Given the description of an element on the screen output the (x, y) to click on. 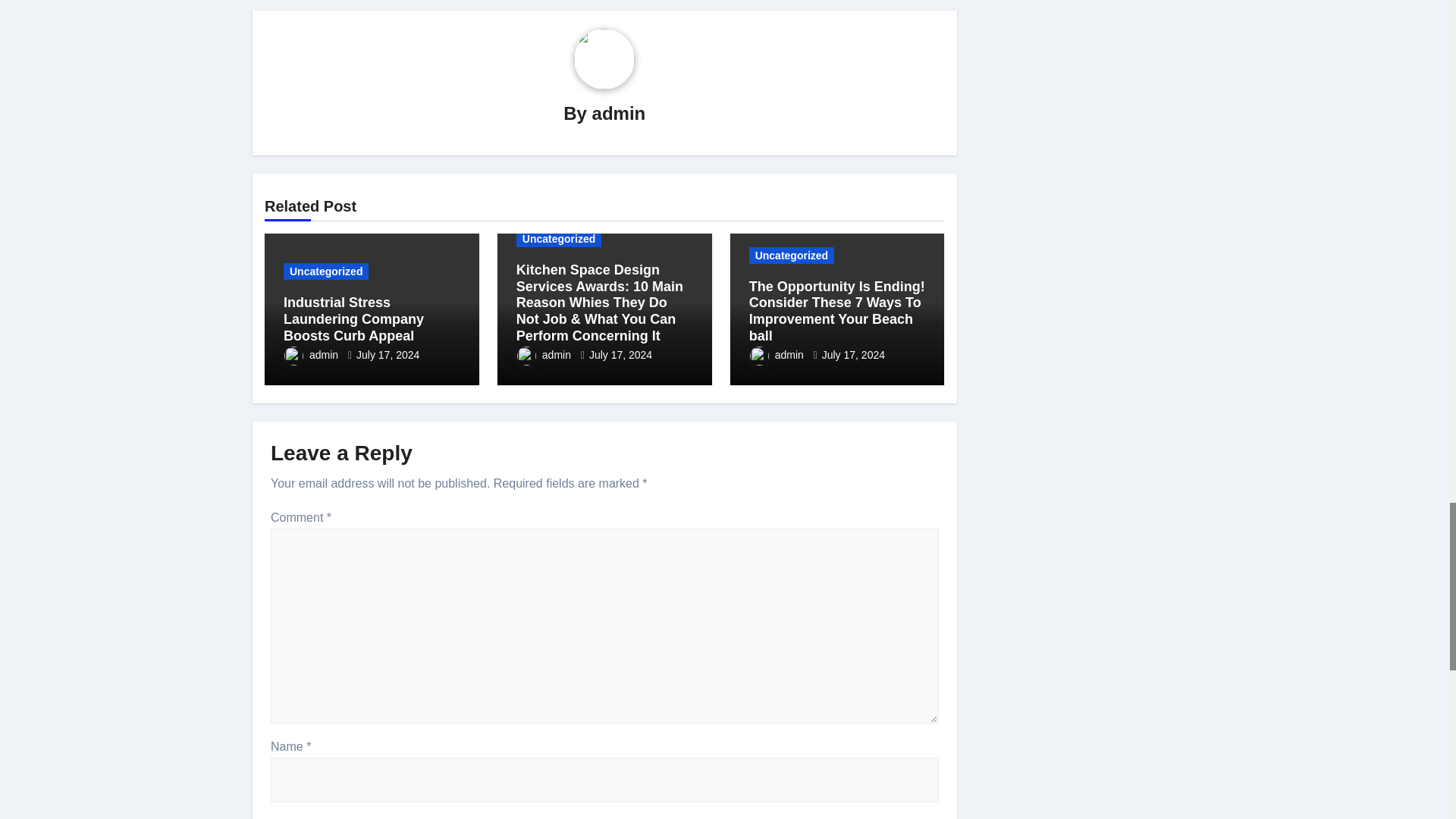
admin (619, 113)
admin (311, 354)
Industrial Stress Laundering Company Boosts Curb Appeal (353, 318)
July 17, 2024 (387, 354)
Uncategorized (325, 271)
